Given the description of an element on the screen output the (x, y) to click on. 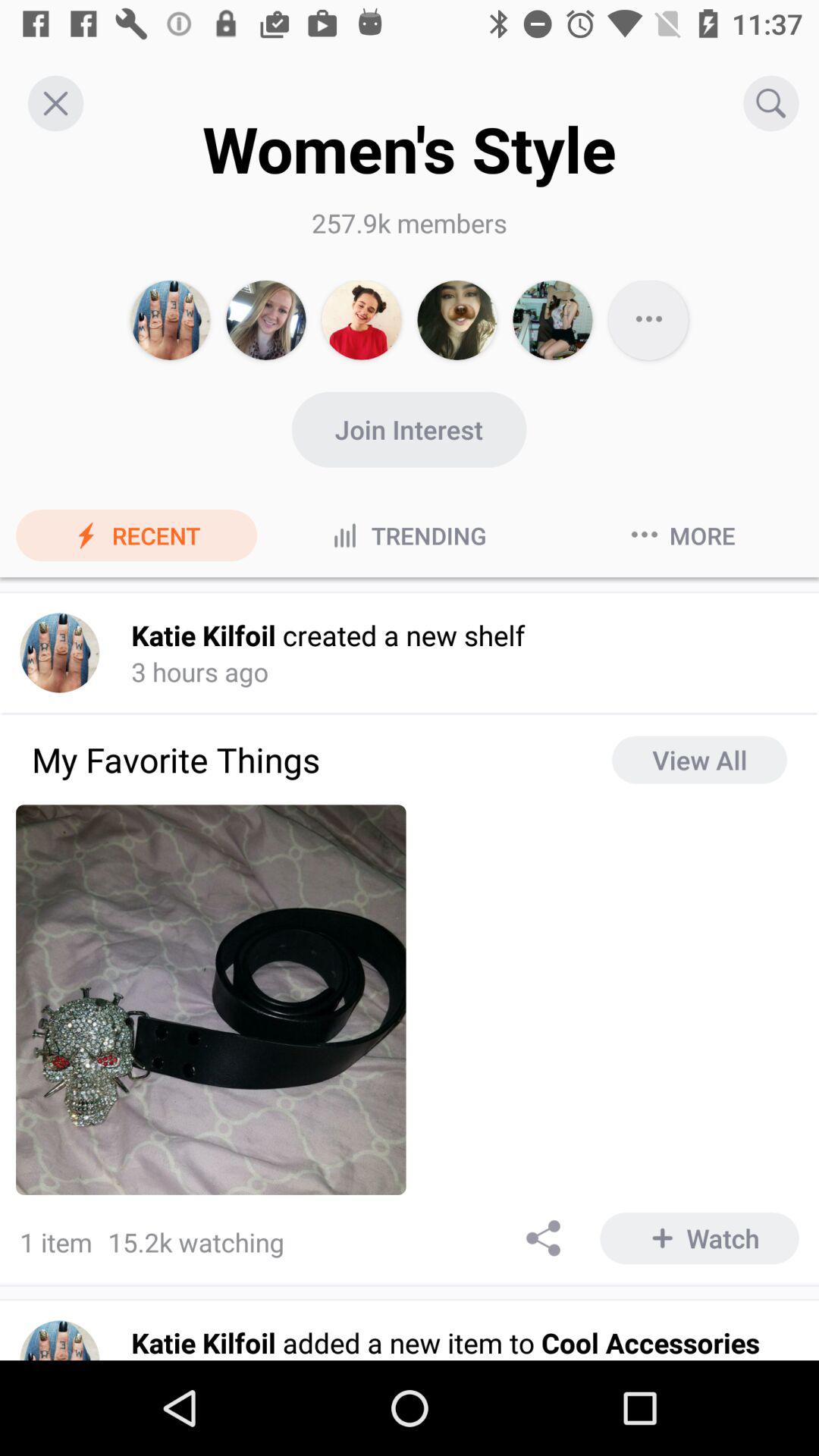
open share options (544, 1238)
